Given the description of an element on the screen output the (x, y) to click on. 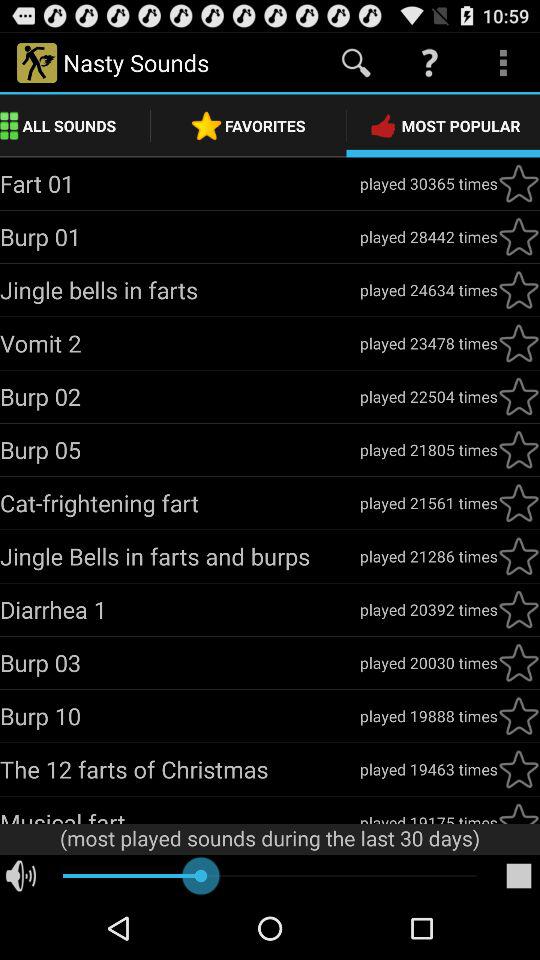
favorite sound (519, 812)
